Given the description of an element on the screen output the (x, y) to click on. 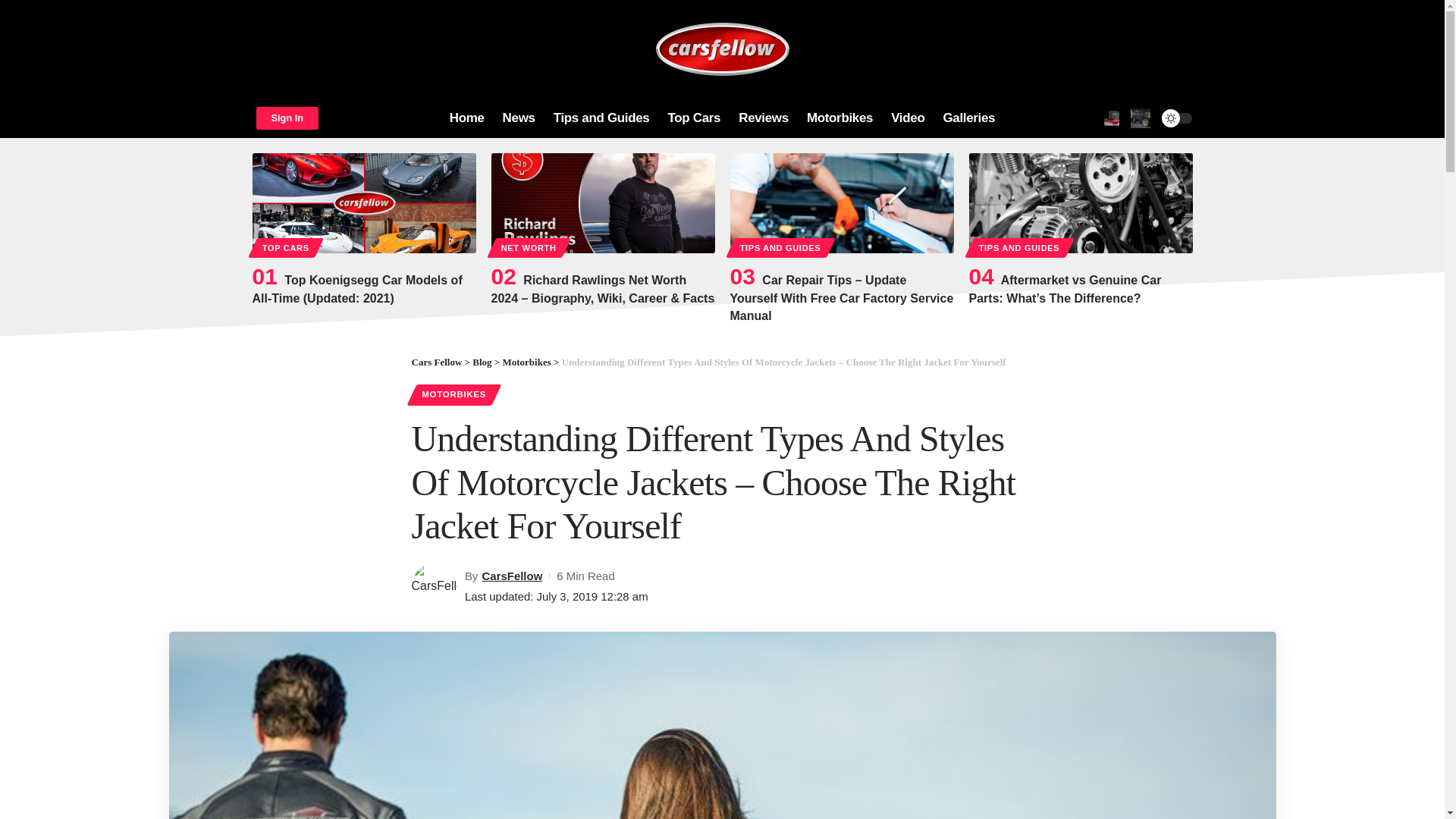
News (518, 118)
NET WORTH (529, 247)
Go to Cars Fellow. (435, 361)
Video (907, 118)
Go to Blog. (481, 361)
Top Cars (693, 118)
TIPS AND GUIDES (779, 247)
Sign In (287, 118)
Motorbikes (839, 118)
TOP CARS (284, 247)
Go to the Motorbikes Category archives. (526, 361)
Reviews (763, 118)
Galleries (968, 118)
TIPS AND GUIDES (1019, 247)
Tips and Guides (601, 118)
